Given the description of an element on the screen output the (x, y) to click on. 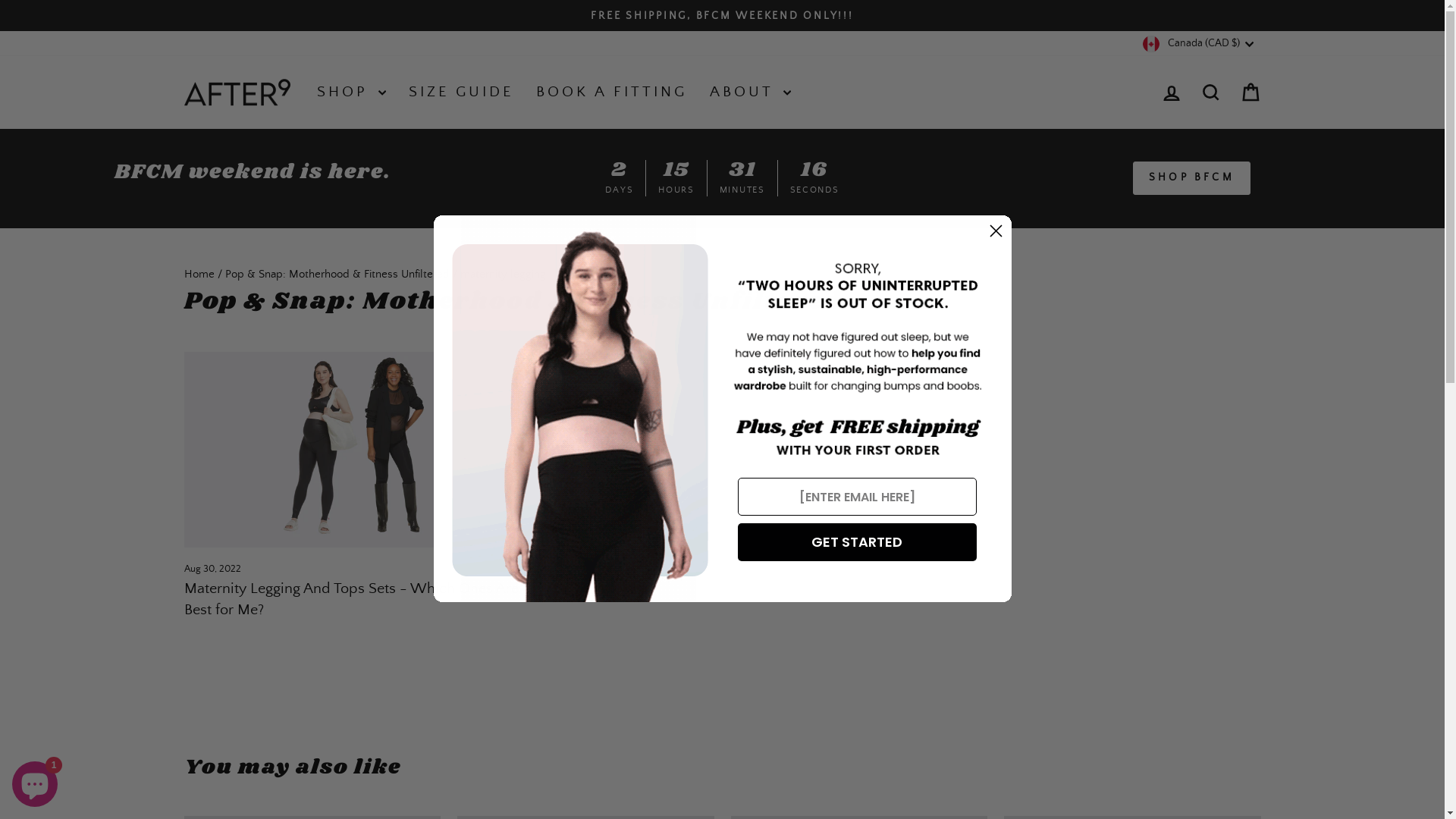
CART Element type: text (1249, 91)
ACCOUNT
LOG IN Element type: text (1170, 91)
SHOP BFCM Element type: text (1191, 177)
Shopify online store chat Element type: hover (34, 780)
Pop & Snap: Motherhood & Fitness Unfiltered Element type: text (336, 273)
Canada (CAD $) Element type: text (1199, 43)
ICON-SEARCH
SEARCH Element type: text (1210, 91)
FREE SHIPPING, BFCM WEEKEND ONLY!!! Element type: text (722, 15)
Home Element type: text (198, 273)
BOOK A FITTING Element type: text (611, 91)
SIZE GUIDE Element type: text (460, 91)
